Given the description of an element on the screen output the (x, y) to click on. 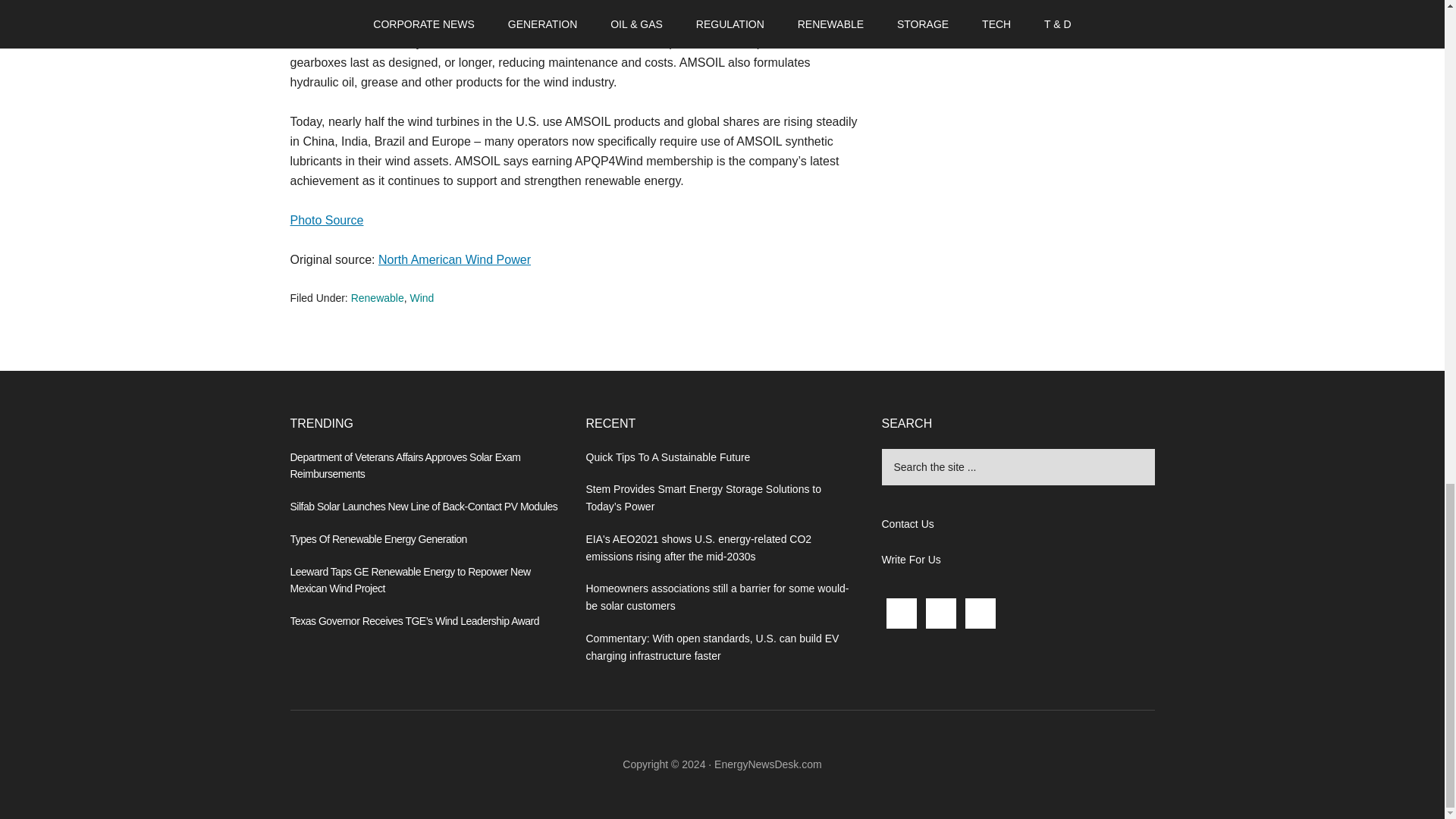
Renewable (377, 297)
Wind (421, 297)
Photo Source (325, 219)
North American Wind Power (454, 259)
